Given the description of an element on the screen output the (x, y) to click on. 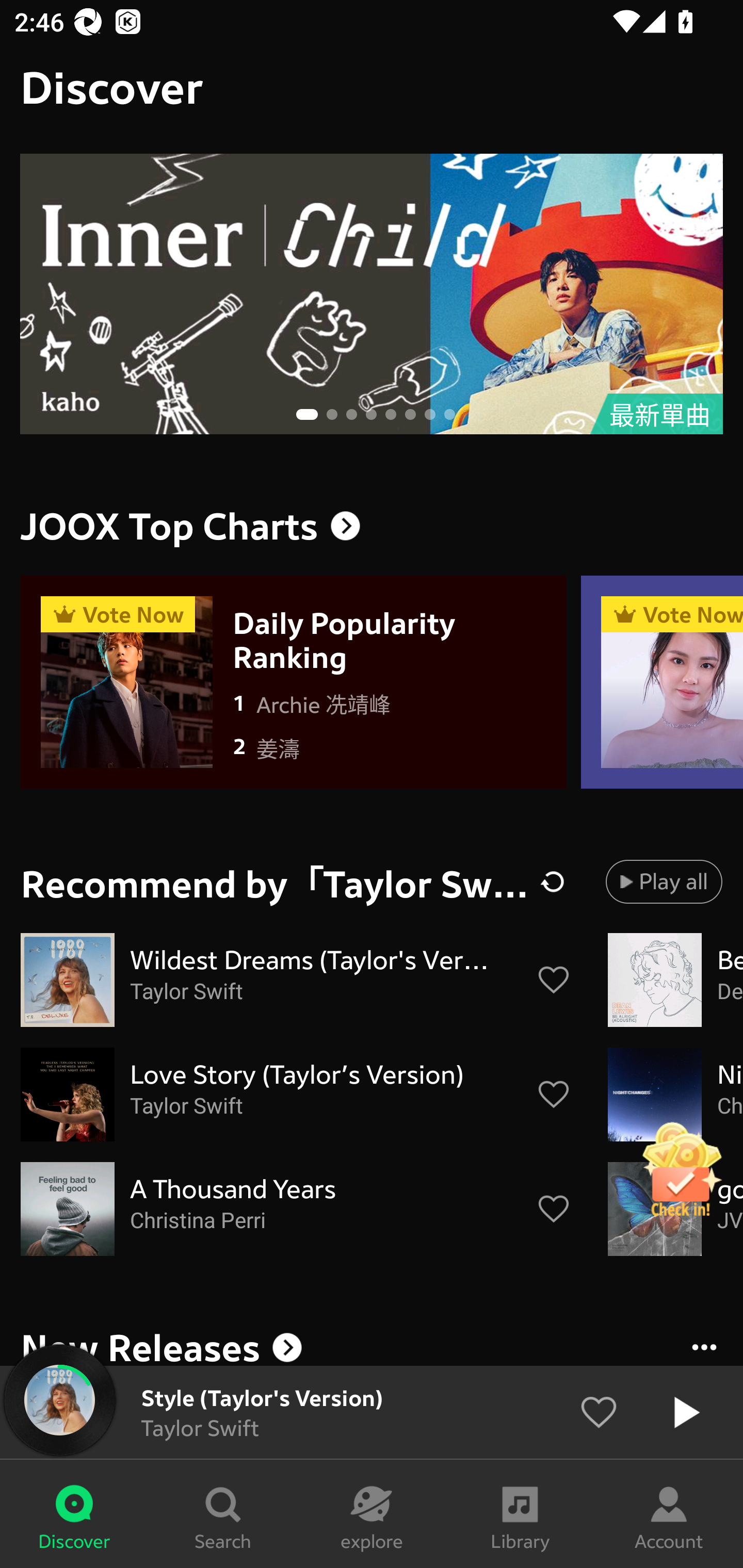
最新單曲   (371, 293)
JOOX Top Charts (371, 525)
Play all (663, 881)
Wildest Dreams (Taylor's Version) Taylor Swift (295, 979)
Love Story (Taylor’s Version) Taylor Swift (295, 1094)
A Thousand Years Christina Perri (295, 1208)
New Releases (371, 1344)
Style (Taylor's Version) Taylor Swift (371, 1412)
Search (222, 1513)
explore (371, 1513)
Library (519, 1513)
Account (668, 1513)
